Given the description of an element on the screen output the (x, y) to click on. 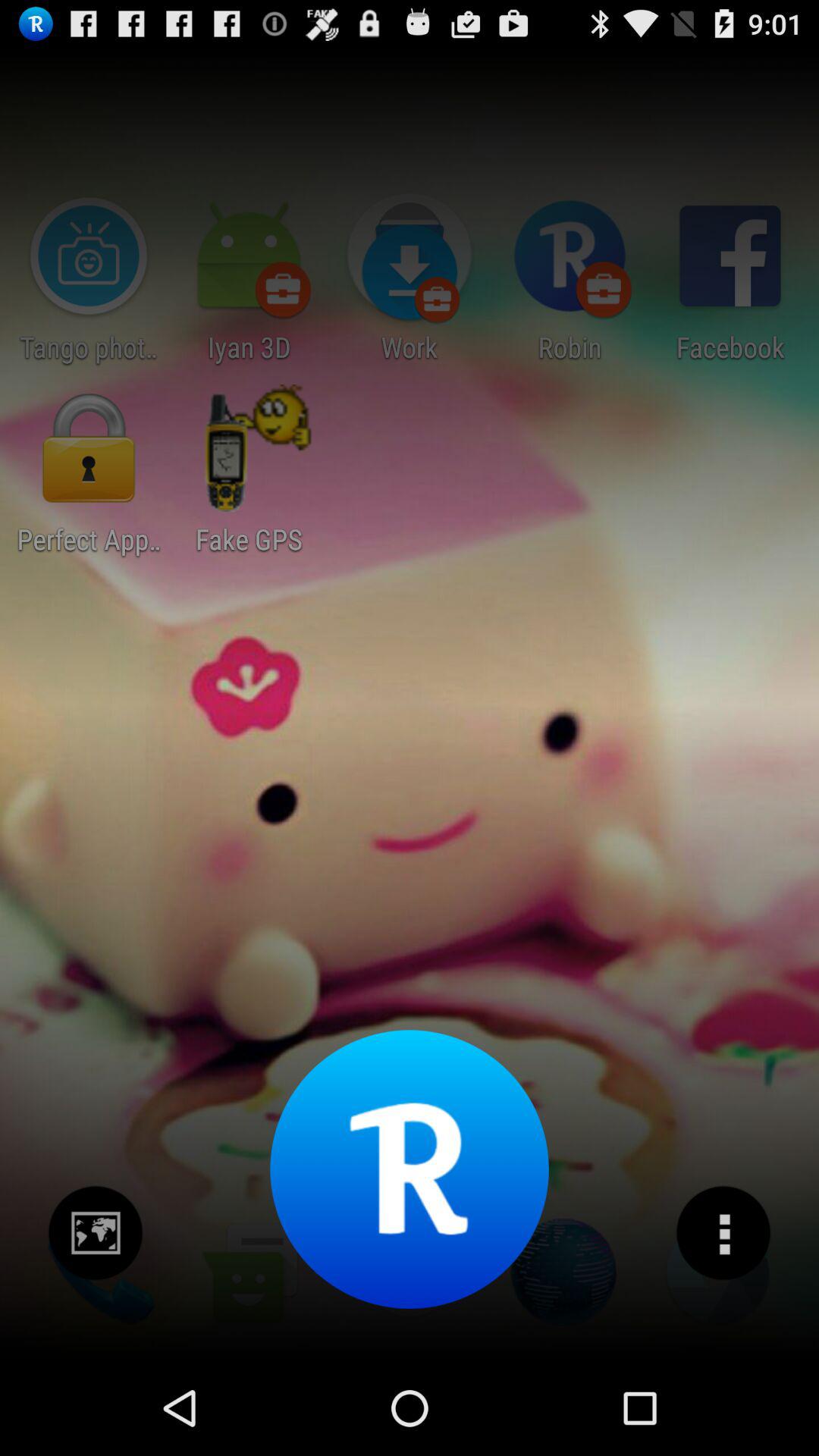
click image icon (95, 1232)
